Given the description of an element on the screen output the (x, y) to click on. 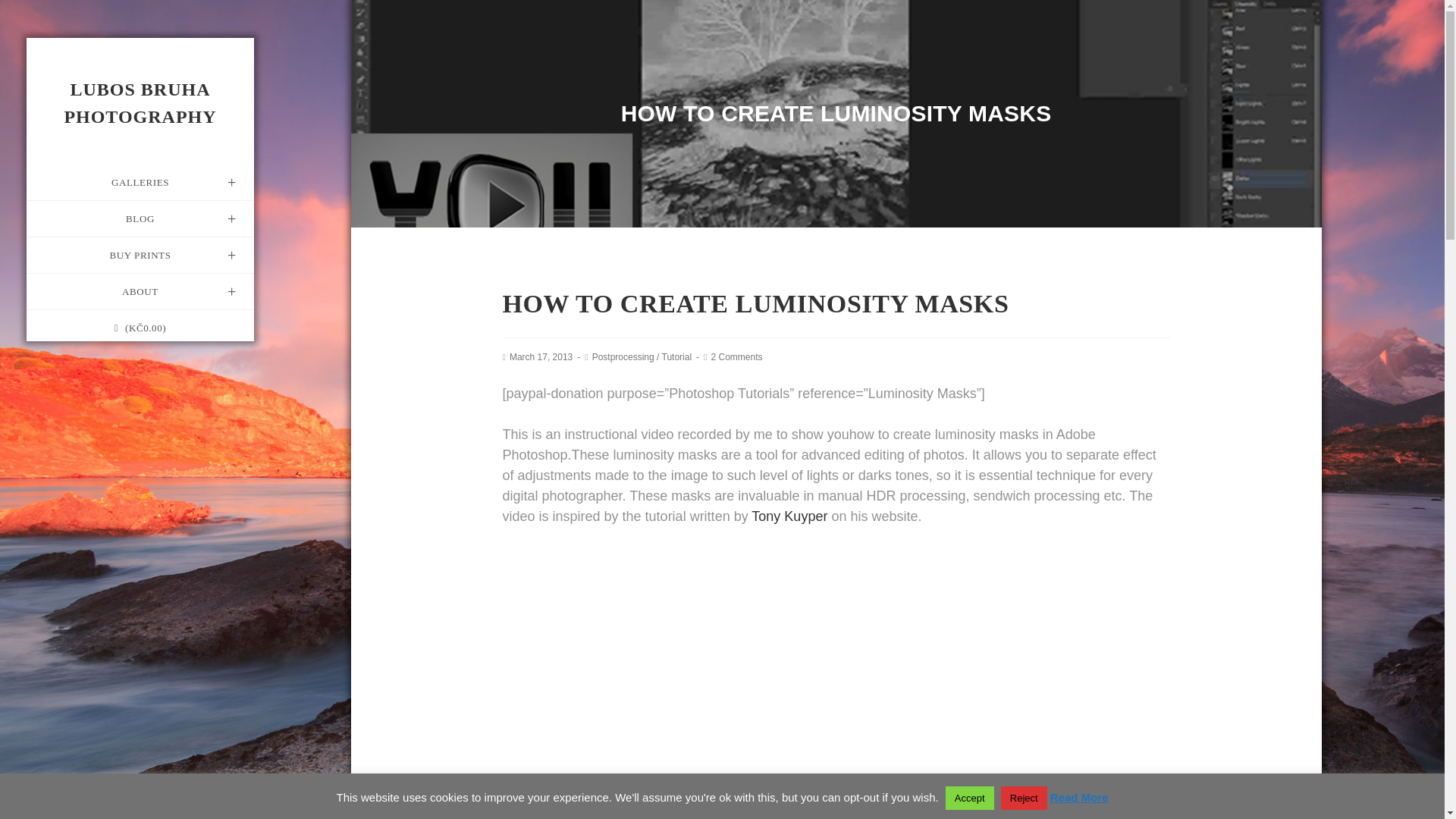
GALLERIES (139, 181)
2 Comments (735, 357)
Tony Kuyper (789, 516)
About Lubos Bruha Photography (139, 291)
ABOUT (139, 291)
Postprocessing (622, 357)
BLOG (139, 218)
LUBOS BRUHA PHOTOGRAPHY (139, 102)
BUY PRINTS (139, 254)
Galleries Page (139, 181)
Buy Prints (139, 254)
Tutorial (677, 357)
Blog (139, 218)
